Given the description of an element on the screen output the (x, y) to click on. 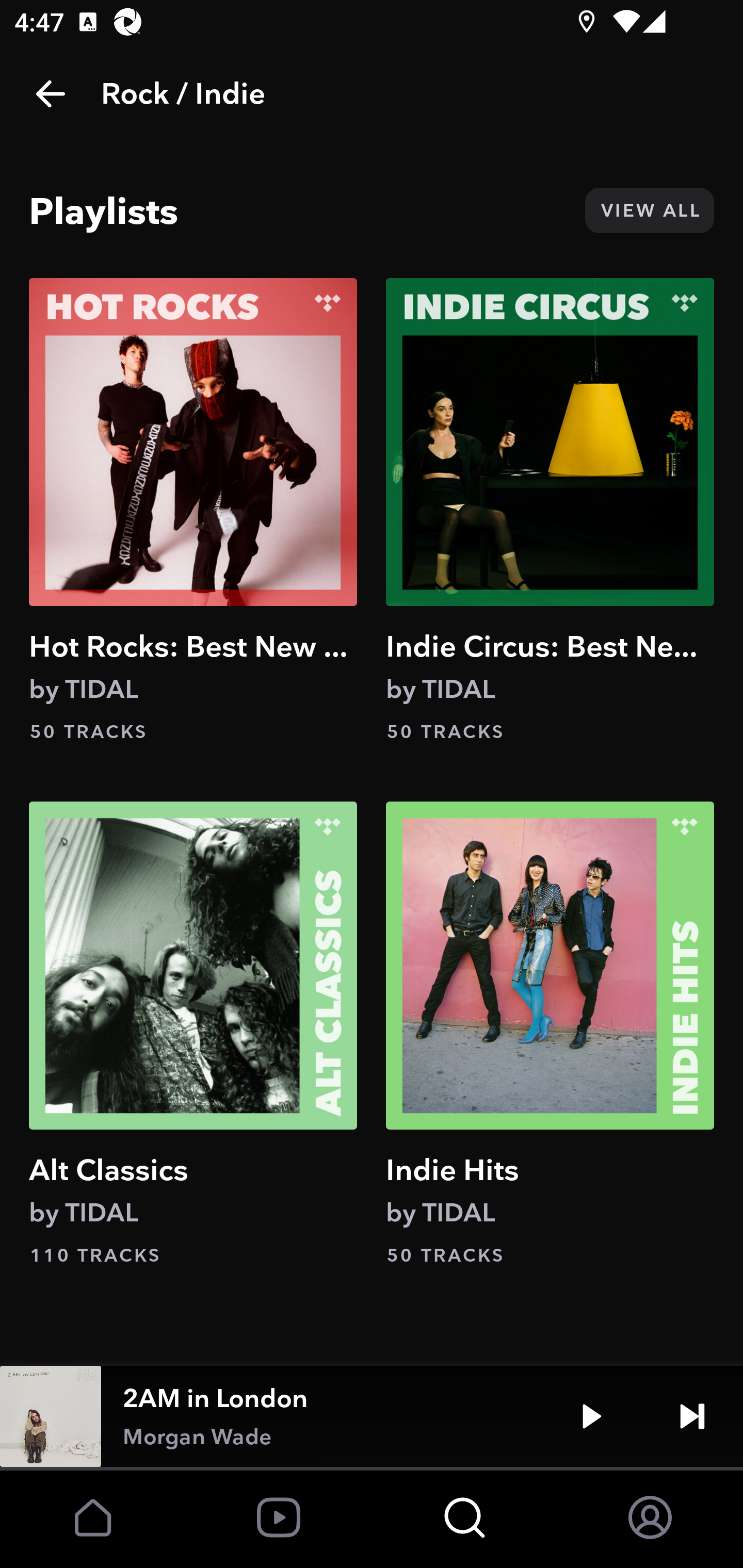
VIEW ALL (649, 210)
Hot Rocks: Best New Rock by TIDAL 50 TRACKS (192, 510)
Indie Circus: Best New Indie by TIDAL 50 TRACKS (549, 510)
Alt Classics by TIDAL 110 TRACKS (192, 1033)
Indie Hits by TIDAL 50 TRACKS (549, 1033)
2AM in London Morgan Wade Play (371, 1416)
Play (590, 1416)
